Given the description of an element on the screen output the (x, y) to click on. 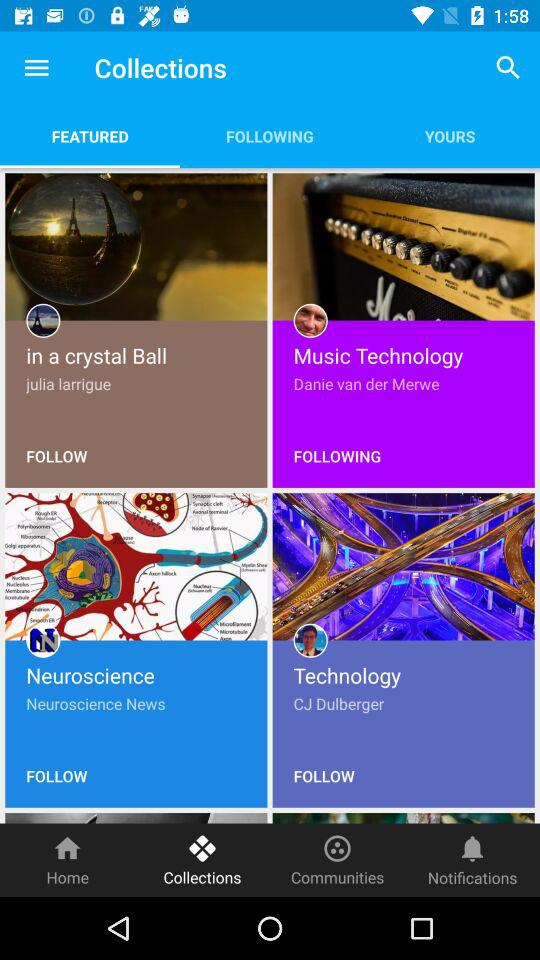
turn on the featured (90, 135)
